Given the description of an element on the screen output the (x, y) to click on. 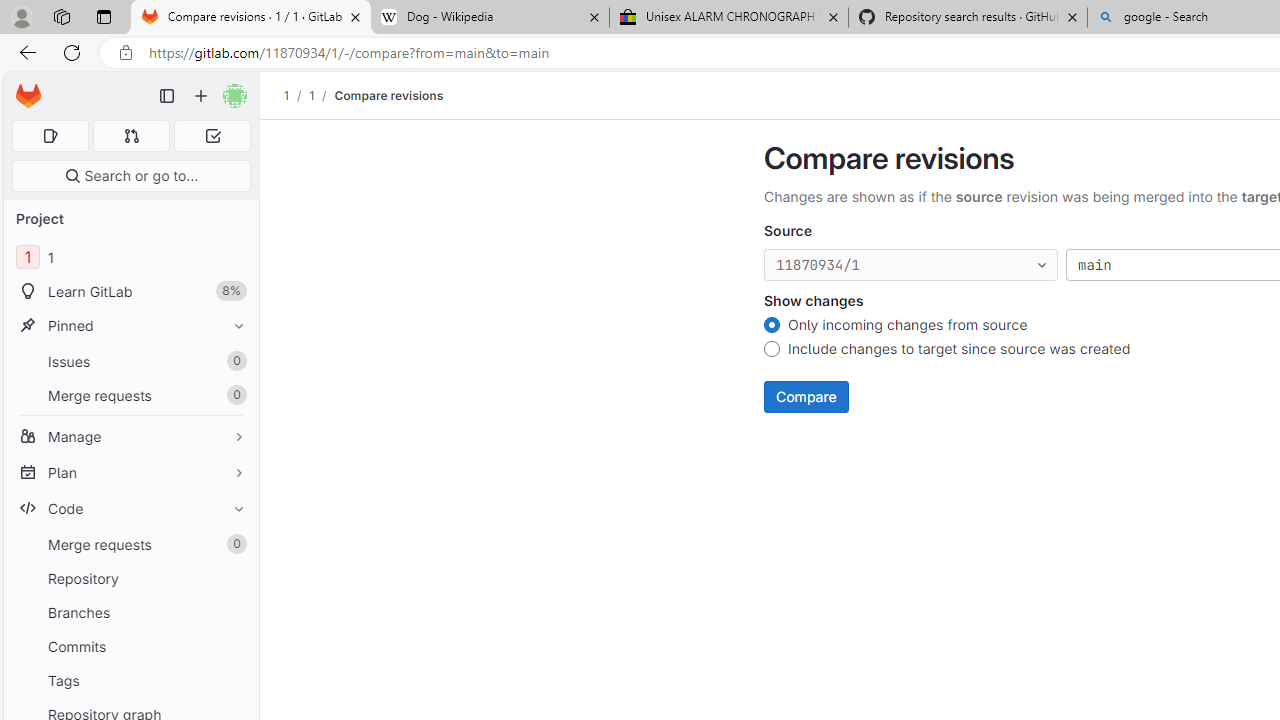
Pin Repository (234, 578)
Pin Tags (234, 680)
1 (311, 95)
Plan (130, 471)
1/ (321, 95)
1 1 (130, 257)
Tags (130, 679)
Compare (806, 396)
Learn GitLab8% (130, 291)
